Given the description of an element on the screen output the (x, y) to click on. 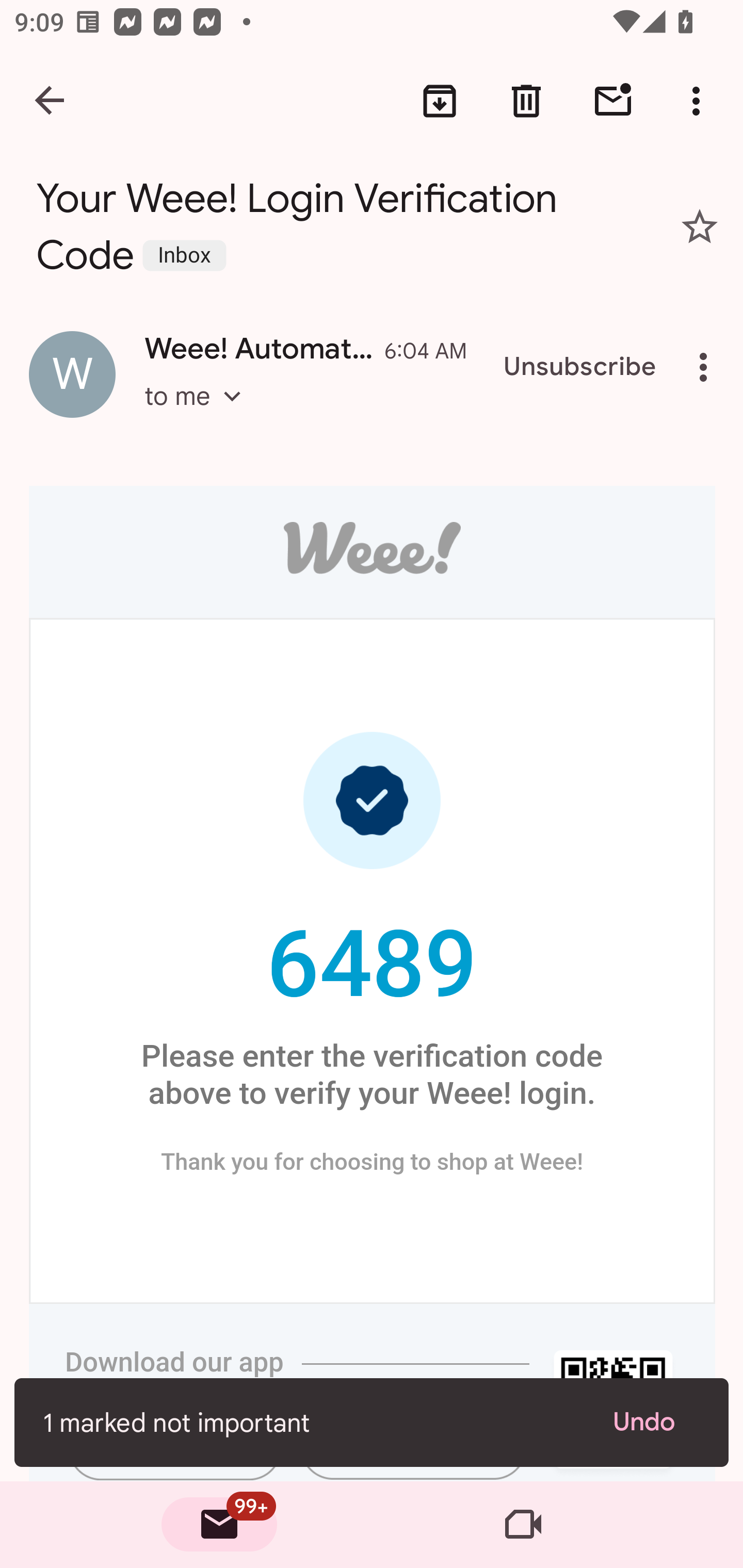
Navigate up (50, 101)
Archive (439, 101)
Delete (525, 101)
Mark unread (612, 101)
More options (699, 101)
Add star (699, 226)
Unsubscribe (579, 367)
More options (706, 367)
to me (199, 414)
Undo (655, 1422)
Meet (523, 1524)
